Given the description of an element on the screen output the (x, y) to click on. 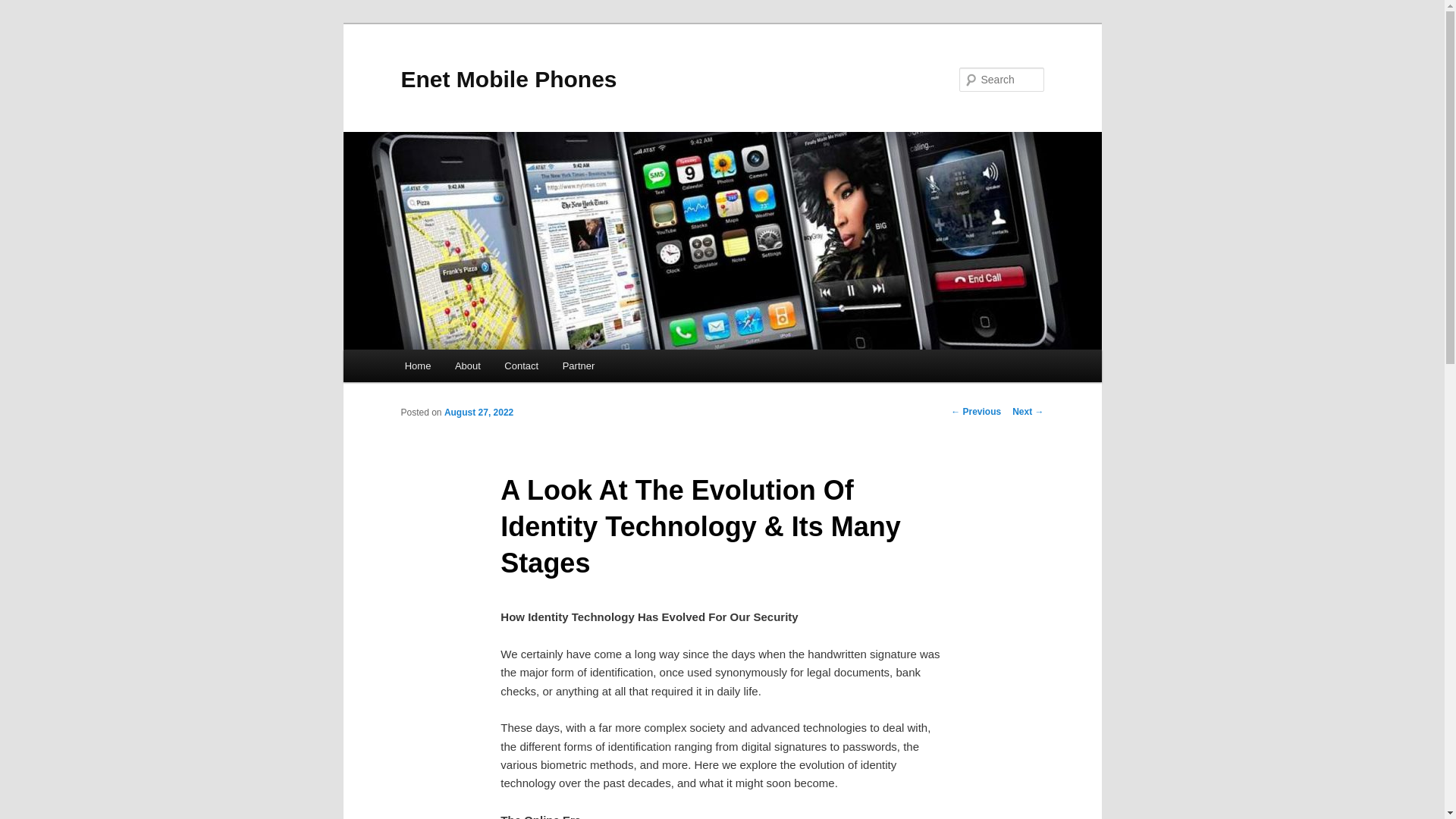
Enet Mobile Phones (507, 78)
Home (417, 365)
About (467, 365)
Partner (578, 365)
Contact (521, 365)
5:59 am (478, 412)
August 27, 2022 (478, 412)
Search (24, 8)
